Given the description of an element on the screen output the (x, y) to click on. 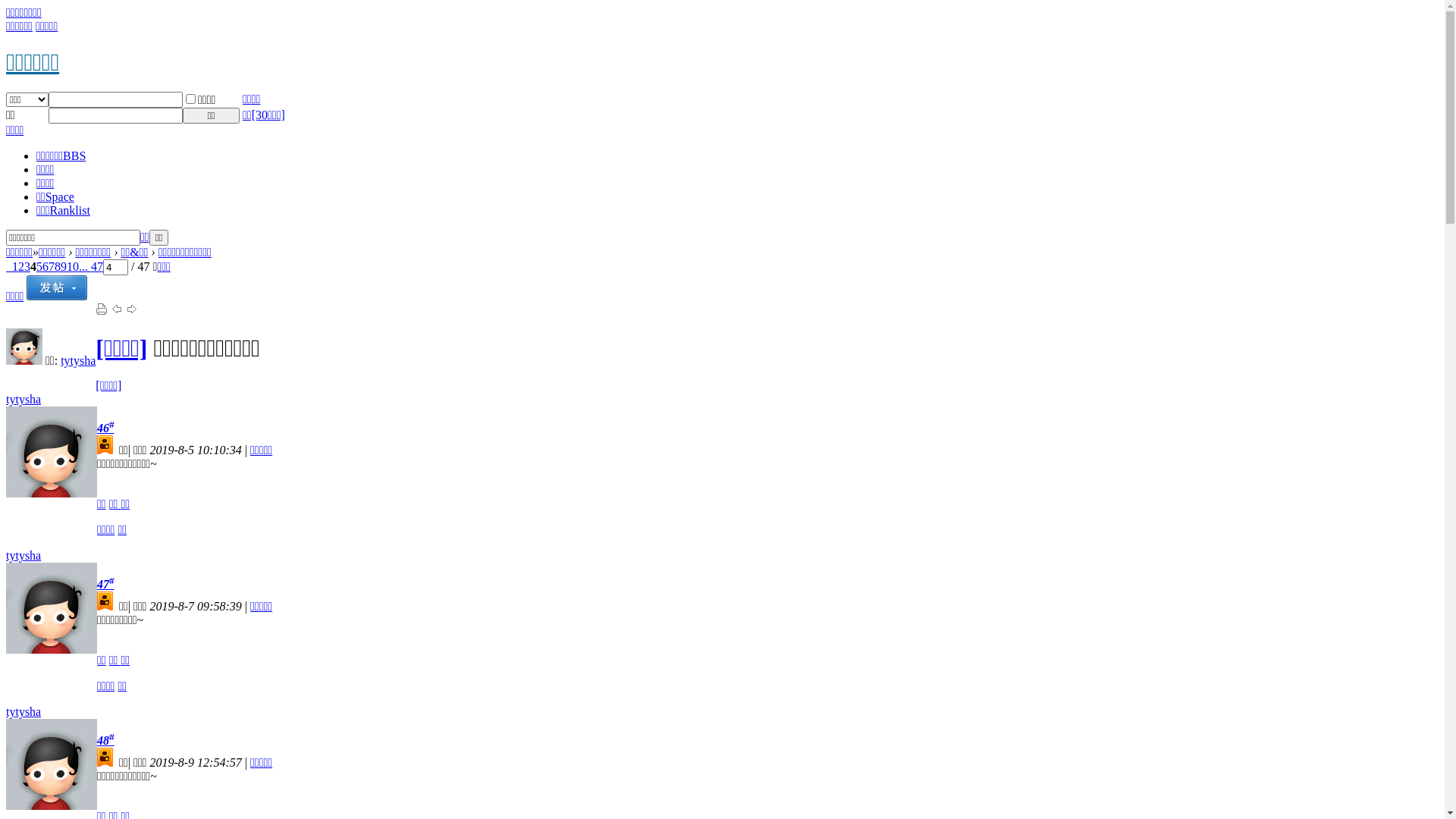
tytysha Element type: hover (24, 360)
tytysha Element type: text (23, 398)
9 Element type: text (63, 266)
5 Element type: text (39, 266)
1 Element type: text (15, 266)
tytysha Element type: text (23, 555)
7 Element type: text (51, 266)
3 Element type: text (27, 266)
... 47 Element type: text (90, 266)
48# Element type: text (105, 740)
6 Element type: text (45, 266)
   Element type: text (9, 266)
10 Element type: text (72, 266)
46# Element type: text (105, 427)
tytysha Element type: text (77, 360)
tytysha Element type: text (23, 711)
8 Element type: text (57, 266)
47# Element type: text (105, 583)
2 Element type: text (21, 266)
